Given the description of an element on the screen output the (x, y) to click on. 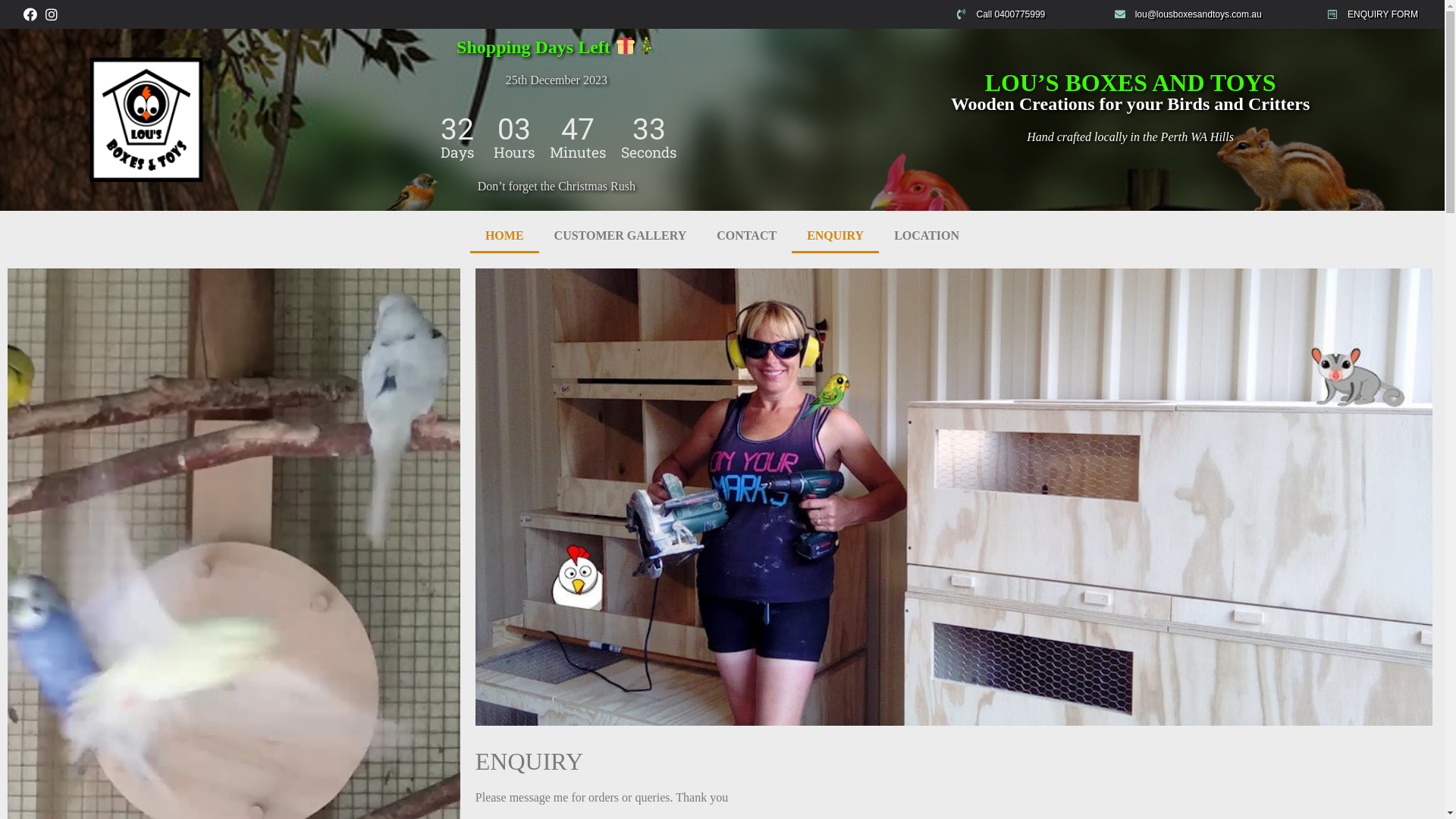
Call 0400775999 Element type: text (1026, 14)
CUSTOMER GALLERY Element type: text (620, 235)
CONTACT Element type: text (746, 235)
ENQUIRY FORM Element type: text (1381, 14)
ENQUIRY Element type: text (834, 235)
LOCATION Element type: text (926, 235)
HOME Element type: text (504, 235)
lou@lousboxesandtoys.com.au Element type: text (1211, 14)
